Given the description of an element on the screen output the (x, y) to click on. 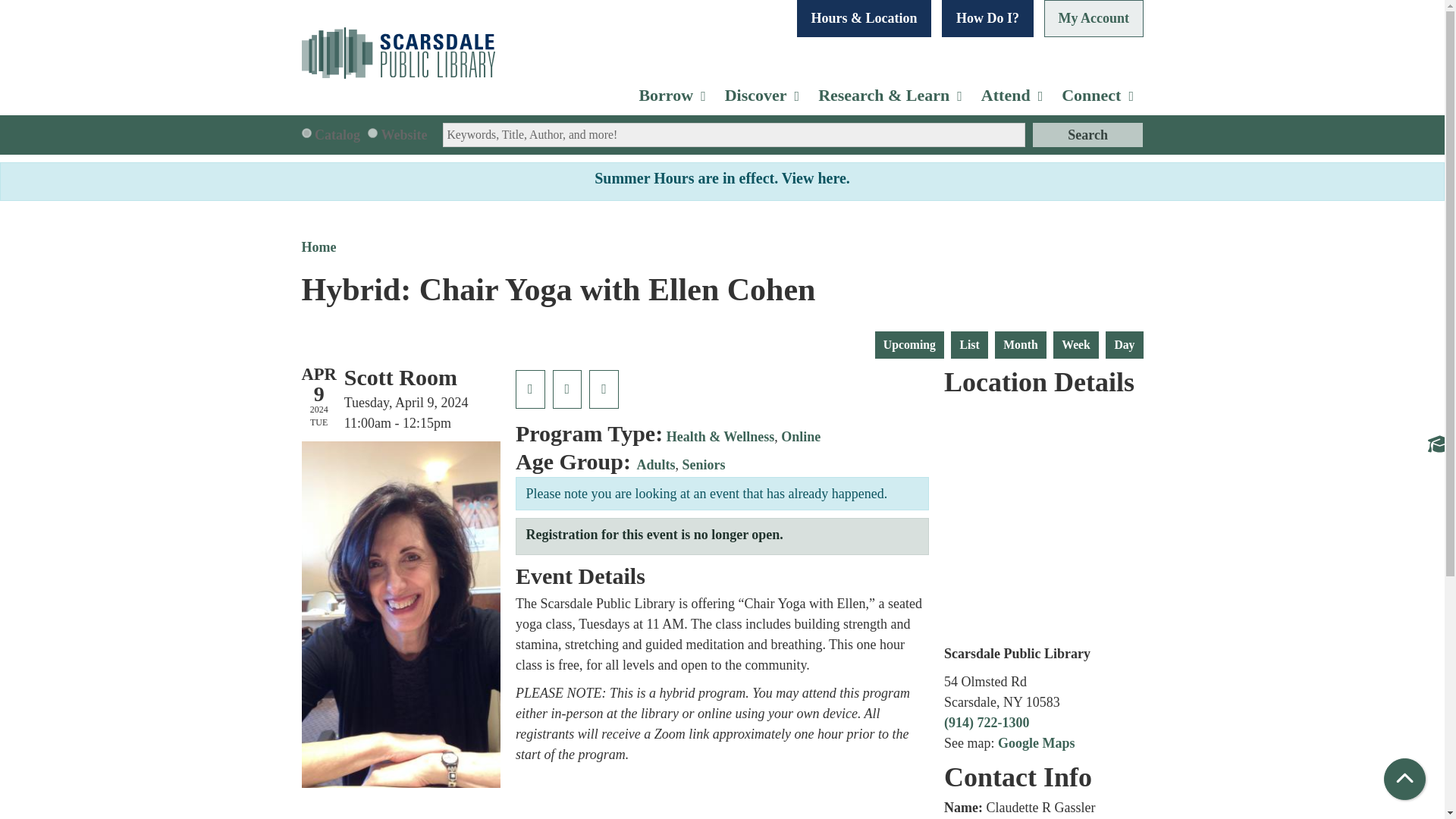
on (372, 132)
Home (398, 53)
How Do I? (987, 18)
on (306, 132)
Back To Top (1404, 779)
My Account (1092, 18)
